Given the description of an element on the screen output the (x, y) to click on. 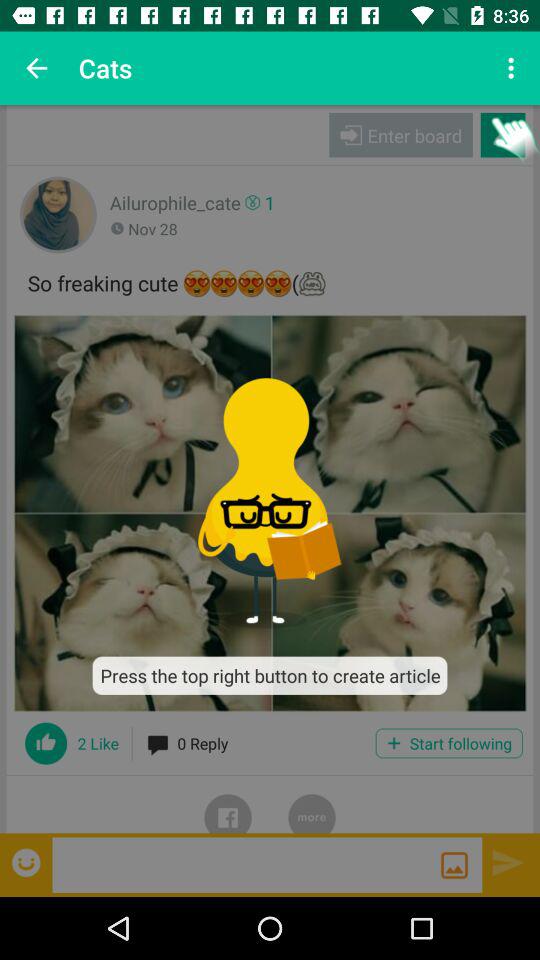
more social media (312, 804)
